Given the description of an element on the screen output the (x, y) to click on. 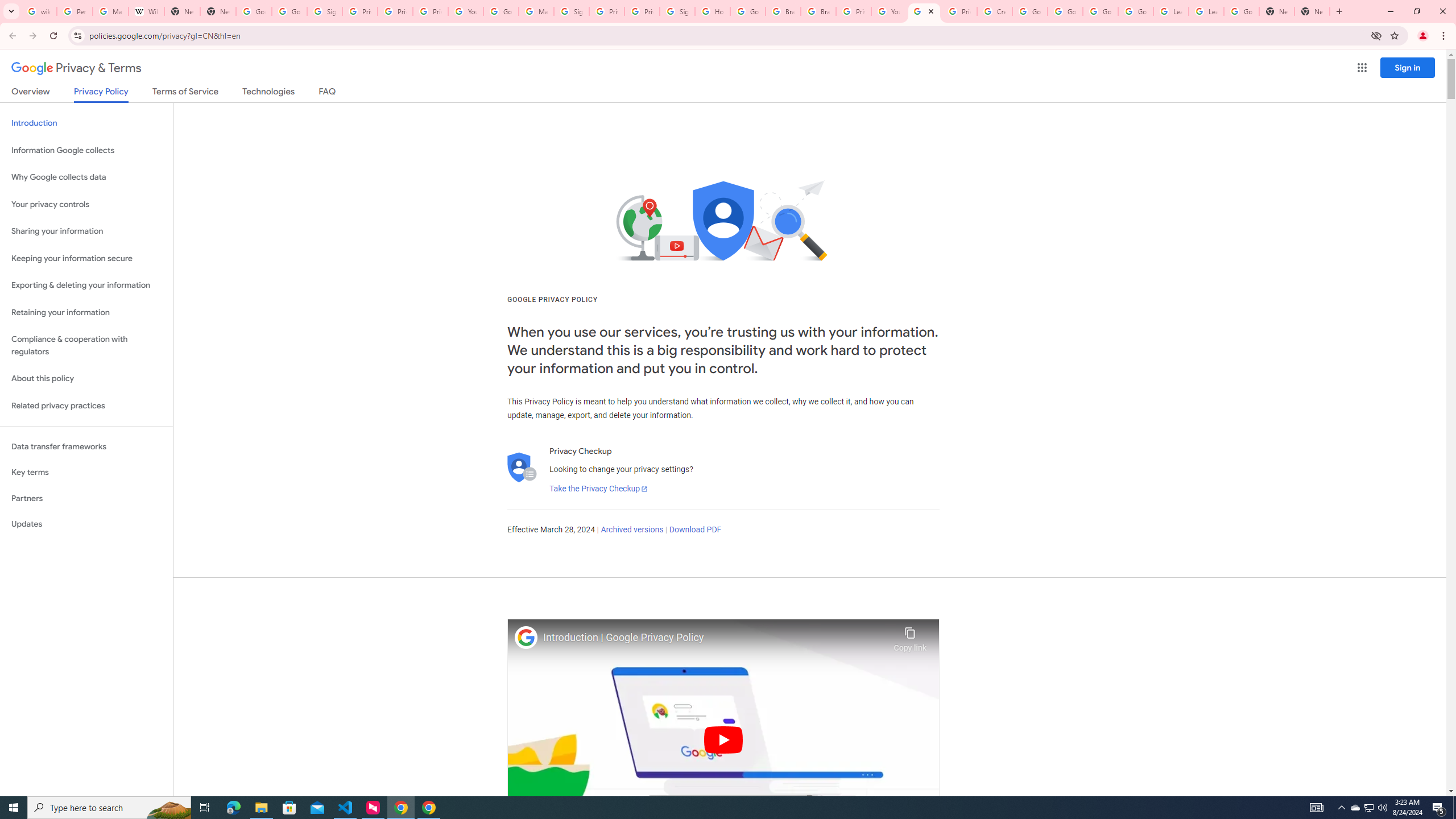
YouTube (465, 11)
Create your Google Account (994, 11)
Download PDF (695, 529)
Information Google collects (86, 150)
